Given the description of an element on the screen output the (x, y) to click on. 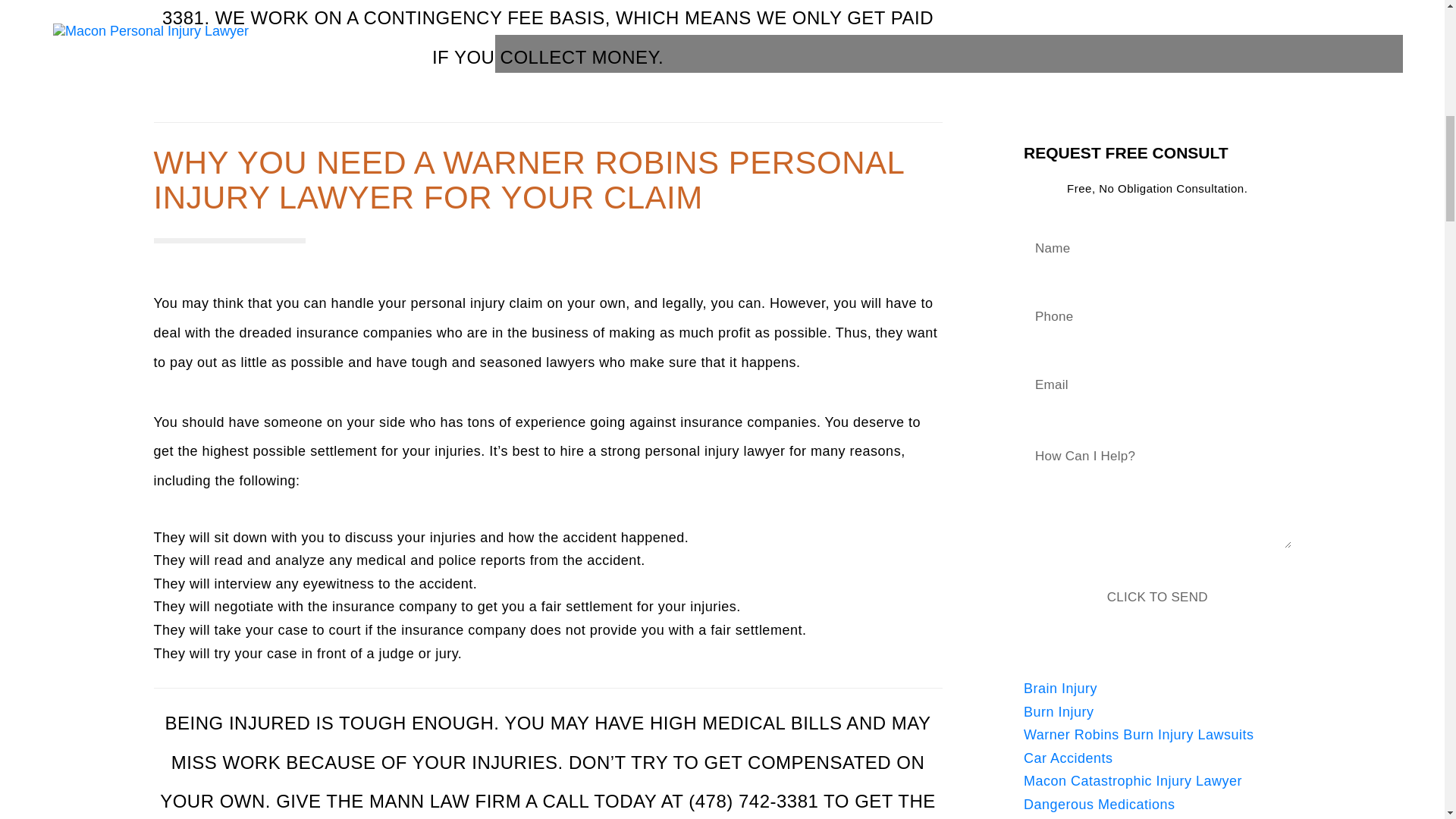
CLICK TO SEND (1157, 597)
CLICK TO SEND (1157, 597)
Burn Injury (1058, 711)
Brain Injury (1060, 688)
Car Accidents (1068, 758)
Macon Catastrophic Injury Lawyer (1132, 780)
Warner Robins Burn Injury Lawsuits (1138, 734)
